Given the description of an element on the screen output the (x, y) to click on. 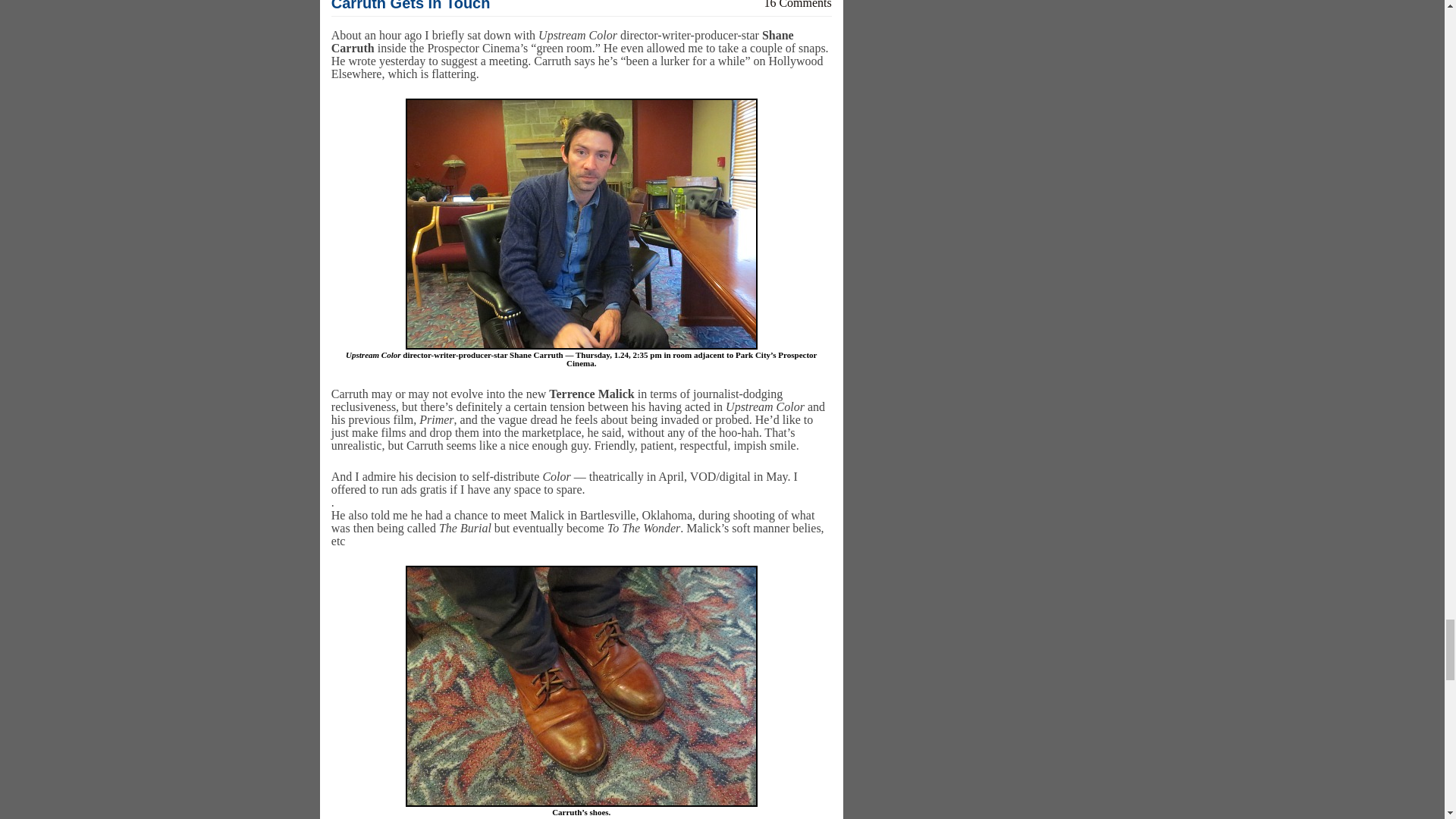
Permanent Link to Carruth Gets In Touch (410, 5)
